Given the description of an element on the screen output the (x, y) to click on. 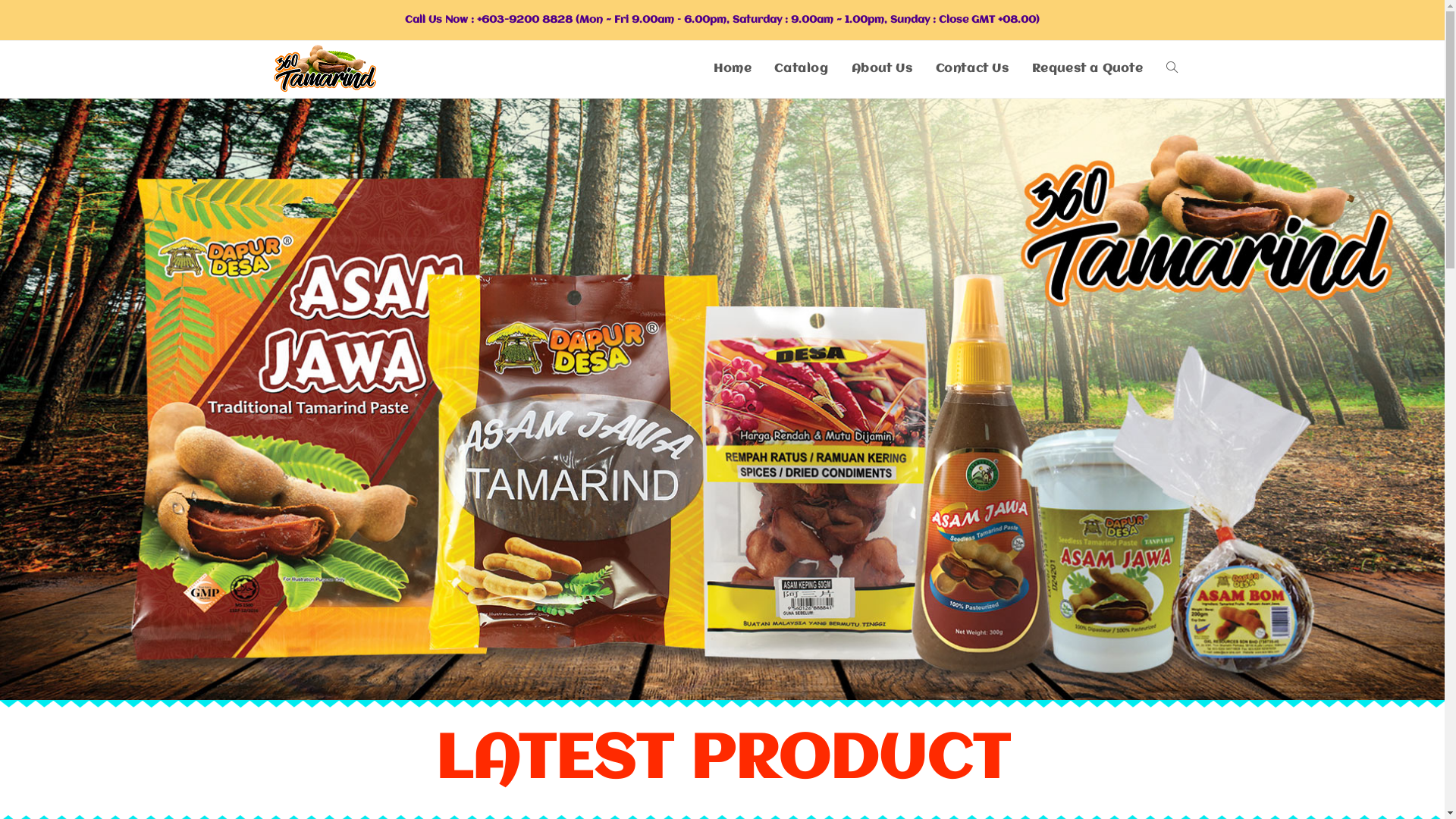
About Us Element type: text (882, 68)
Contact Us Element type: text (971, 68)
Catalog Element type: text (800, 68)
Home Element type: text (732, 68)
Request a Quote Element type: text (1087, 68)
